Given the description of an element on the screen output the (x, y) to click on. 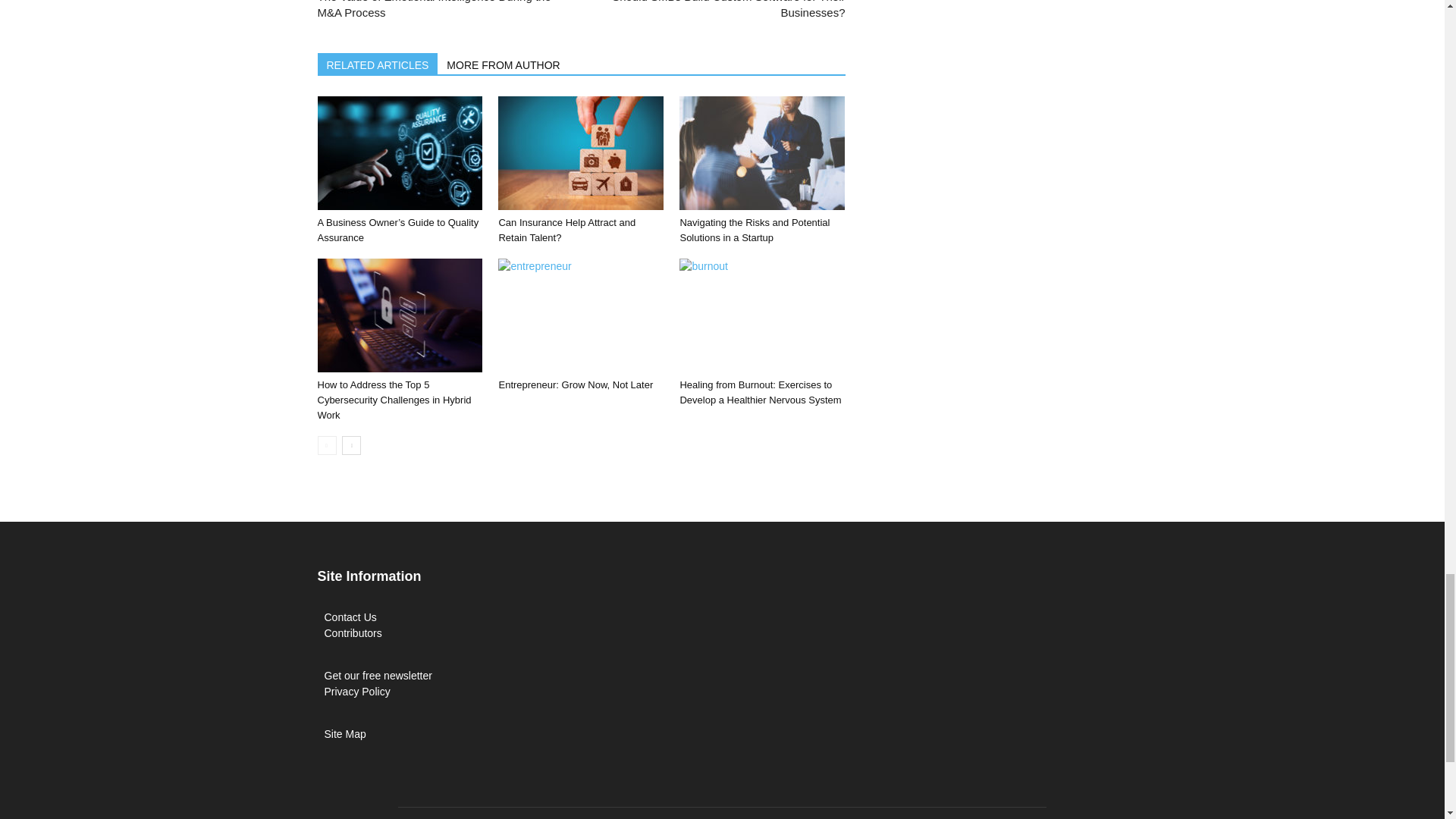
Entrepreneur: Grow Now, Not Later (580, 315)
Can Insurance Help Attract and Retain Talent? (580, 152)
Navigating the Risks and Potential Solutions in a Startup (754, 230)
Navigating the Risks and Potential Solutions in a Startup (761, 152)
Can Insurance Help Attract and Retain Talent? (565, 230)
